Given the description of an element on the screen output the (x, y) to click on. 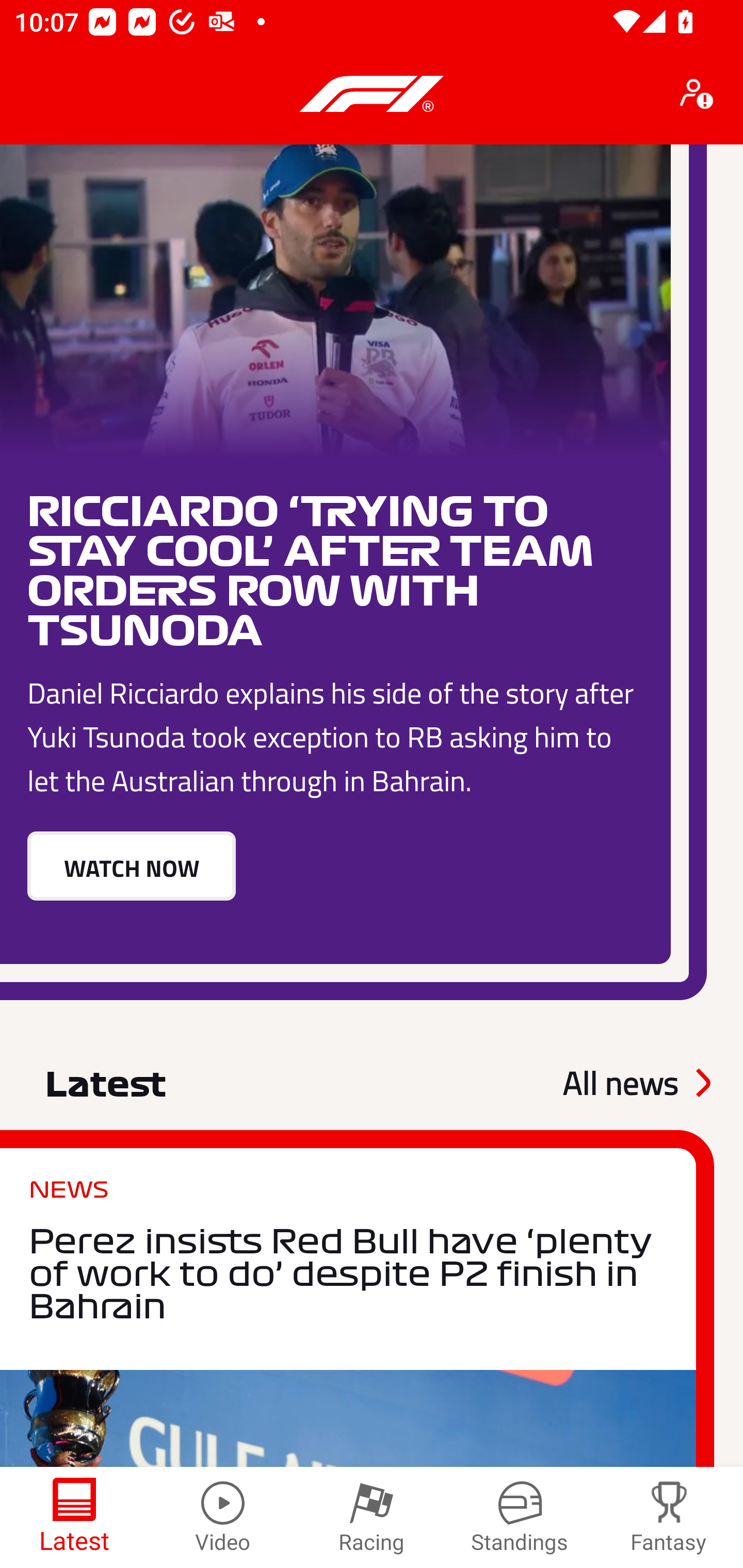
WATCH NOW (131, 865)
All news See all (635, 1083)
Video (222, 1517)
Racing (371, 1517)
Standings (519, 1517)
Fantasy (668, 1517)
